Given the description of an element on the screen output the (x, y) to click on. 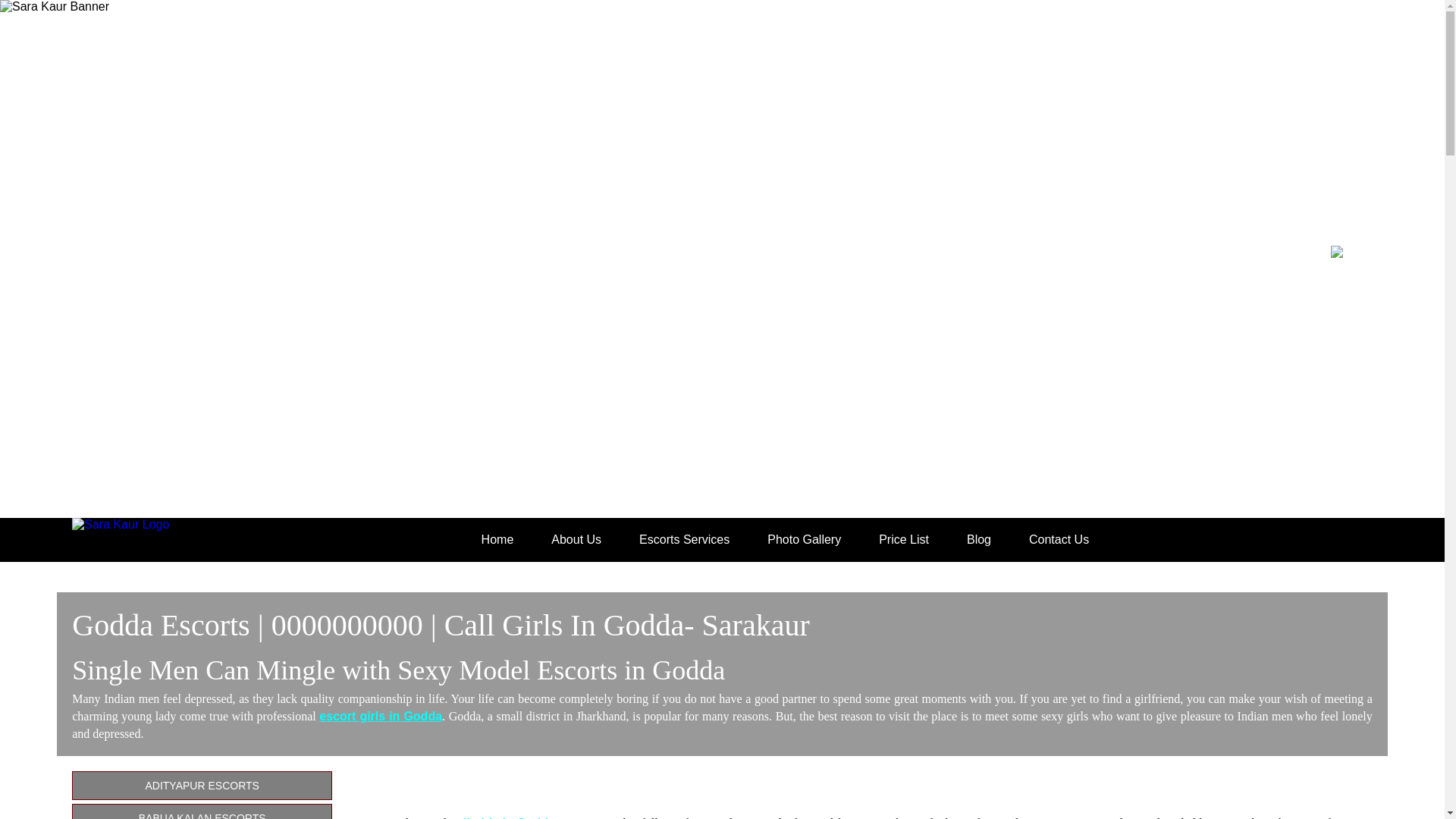
escort girls in Godda (380, 716)
ADITYAPUR ESCORTS (201, 785)
Contact Us (1059, 539)
call girls in Godda (501, 817)
Blog (978, 539)
Price List (903, 539)
Escorts Services (684, 539)
About Us (576, 539)
Photo Gallery (804, 539)
Home (497, 539)
Sara Kaur Logo (143, 536)
BABUA KALAN ESCORTS (201, 811)
